Given the description of an element on the screen output the (x, y) to click on. 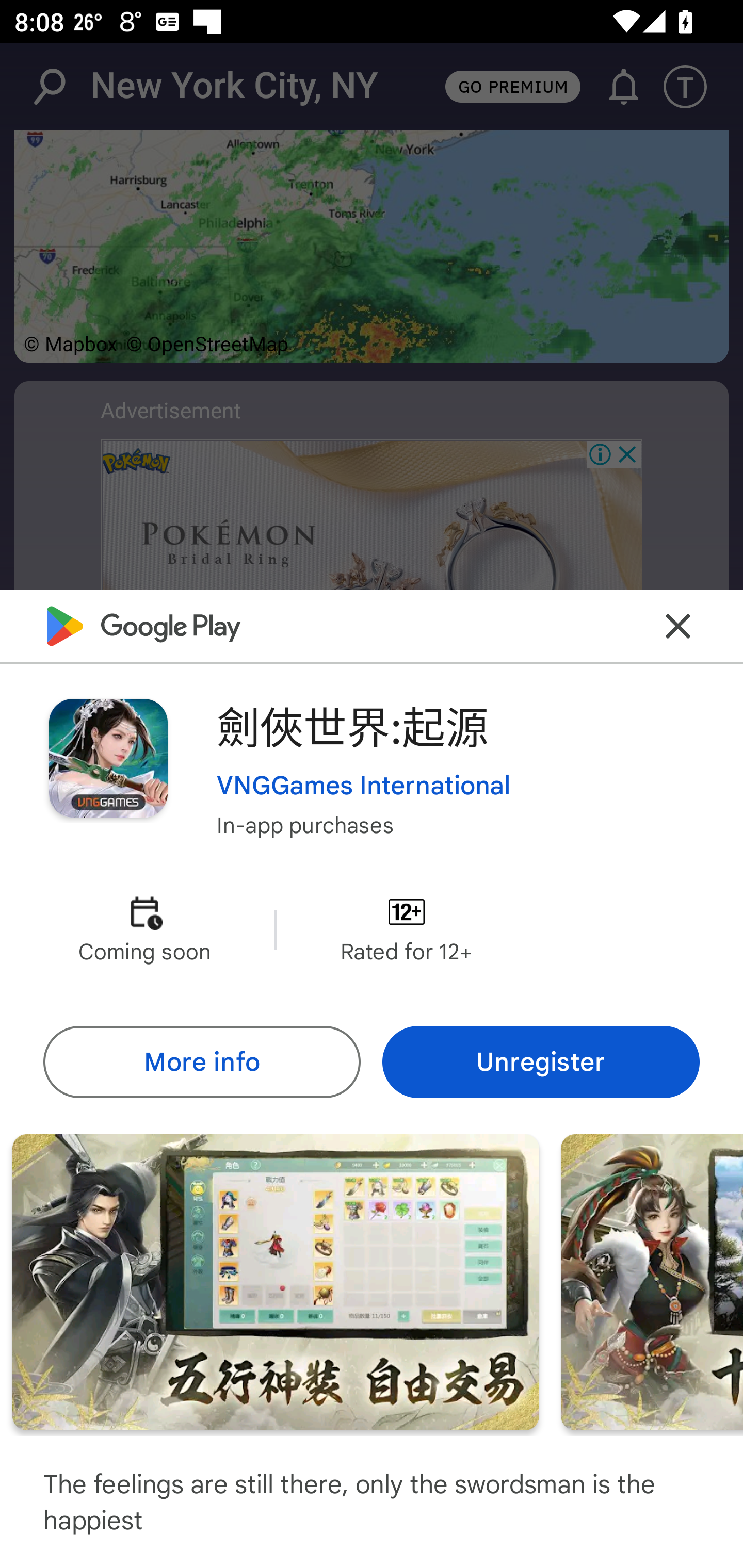
Close (677, 625)
Image of app or game icon for 劍俠世界:起源 (108, 758)
VNGGames International (363, 784)
More info (201, 1061)
Unregister (540, 1061)
Screenshot "2" of "5" (275, 1281)
Screenshot "3" of "5" (651, 1281)
